Given the description of an element on the screen output the (x, y) to click on. 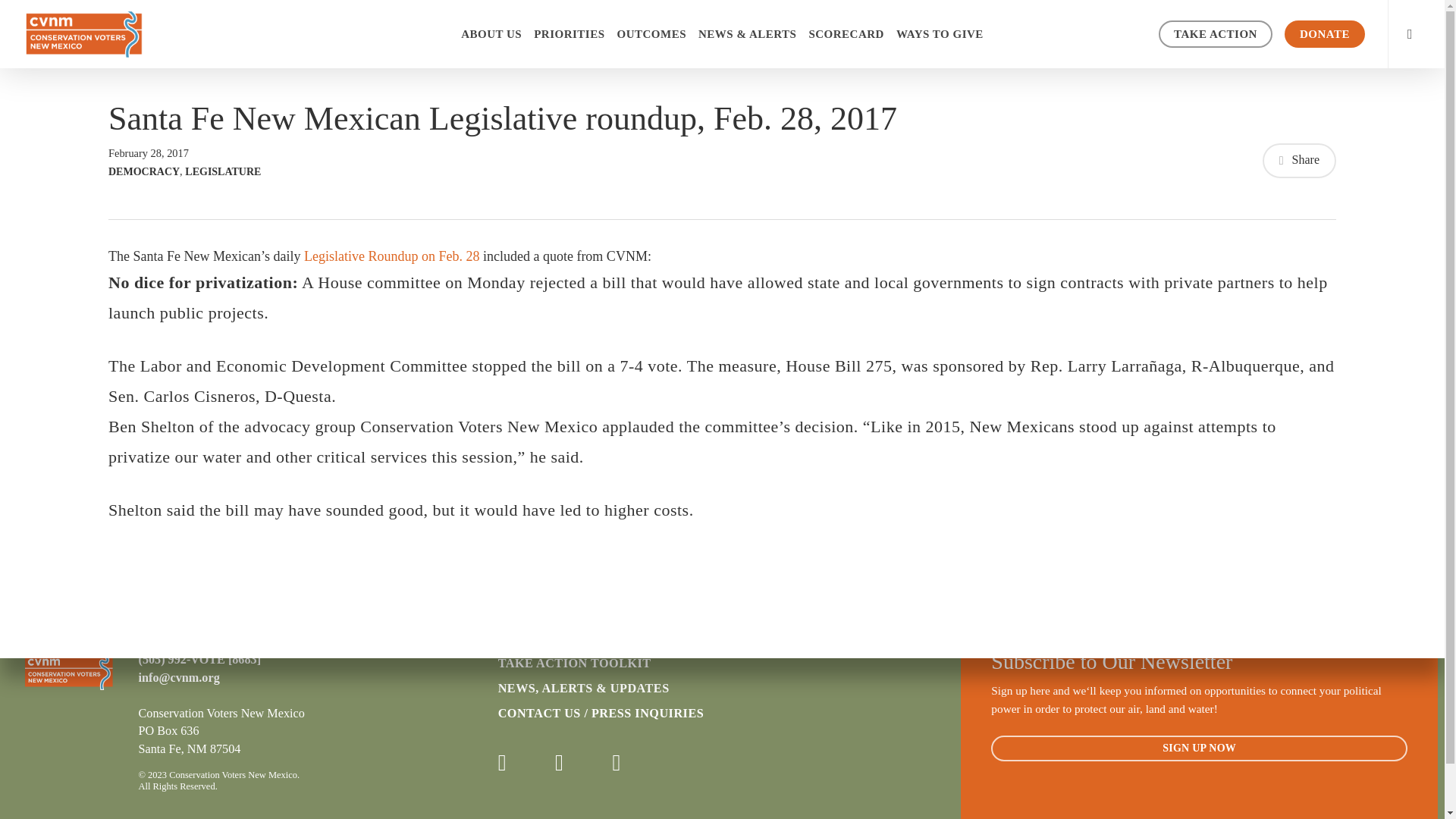
Legislative Roundup on Feb. 28 (391, 255)
DONATE (1324, 33)
WAYS TO GIVE (940, 33)
PRIORITIES (569, 33)
SIGN UP NOW (1199, 748)
DEMOCRACY (143, 171)
TAKE ACTION TOOLKIT (637, 663)
ABOUT US (491, 33)
SCORECARD (845, 33)
TAKE ACTION (1215, 33)
LEGISLATURE (222, 171)
OUTCOMES (652, 33)
